Given the description of an element on the screen output the (x, y) to click on. 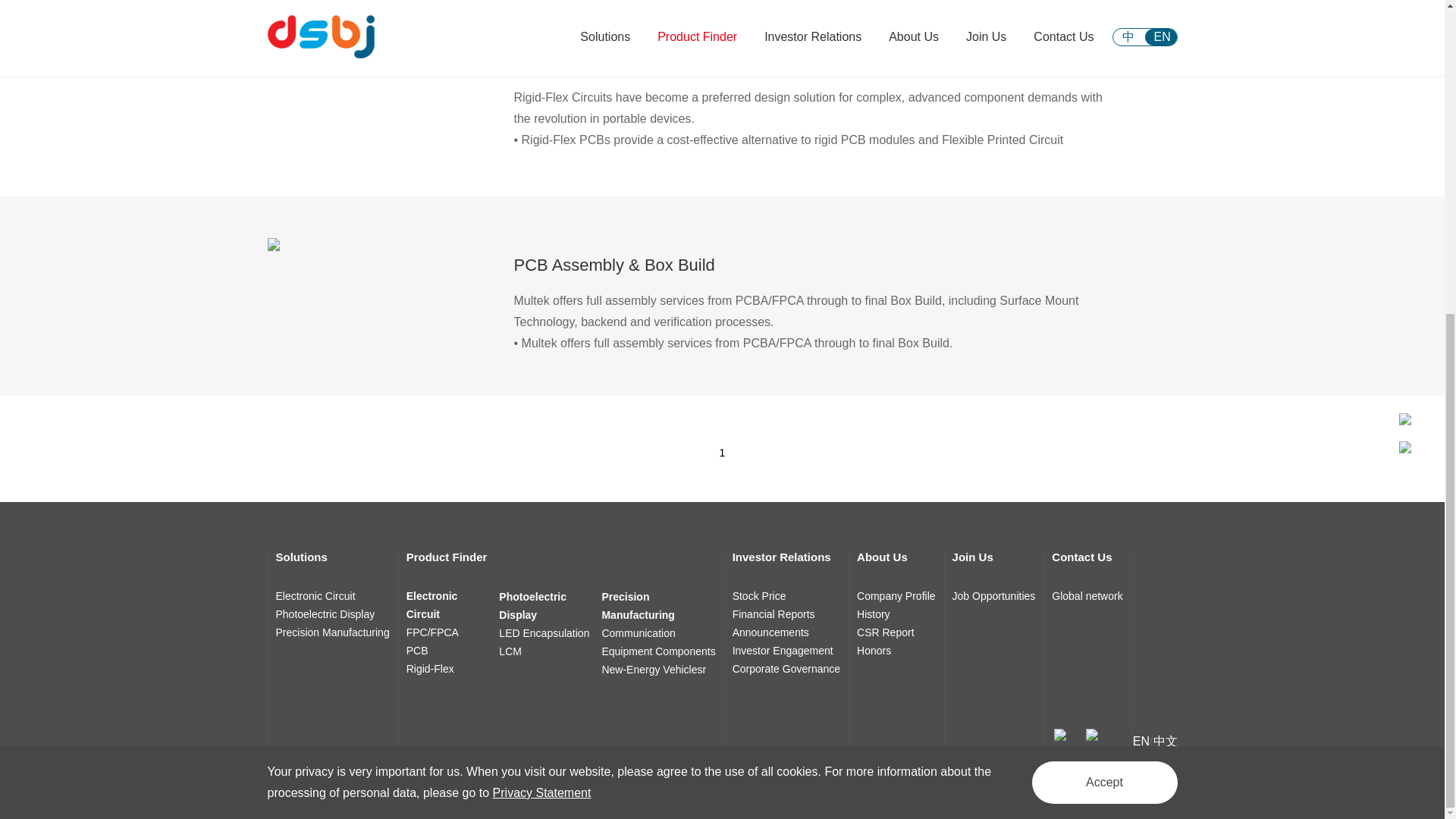
Privacy Statement (542, 290)
Accept (1103, 280)
emial (1059, 733)
